Given the description of an element on the screen output the (x, y) to click on. 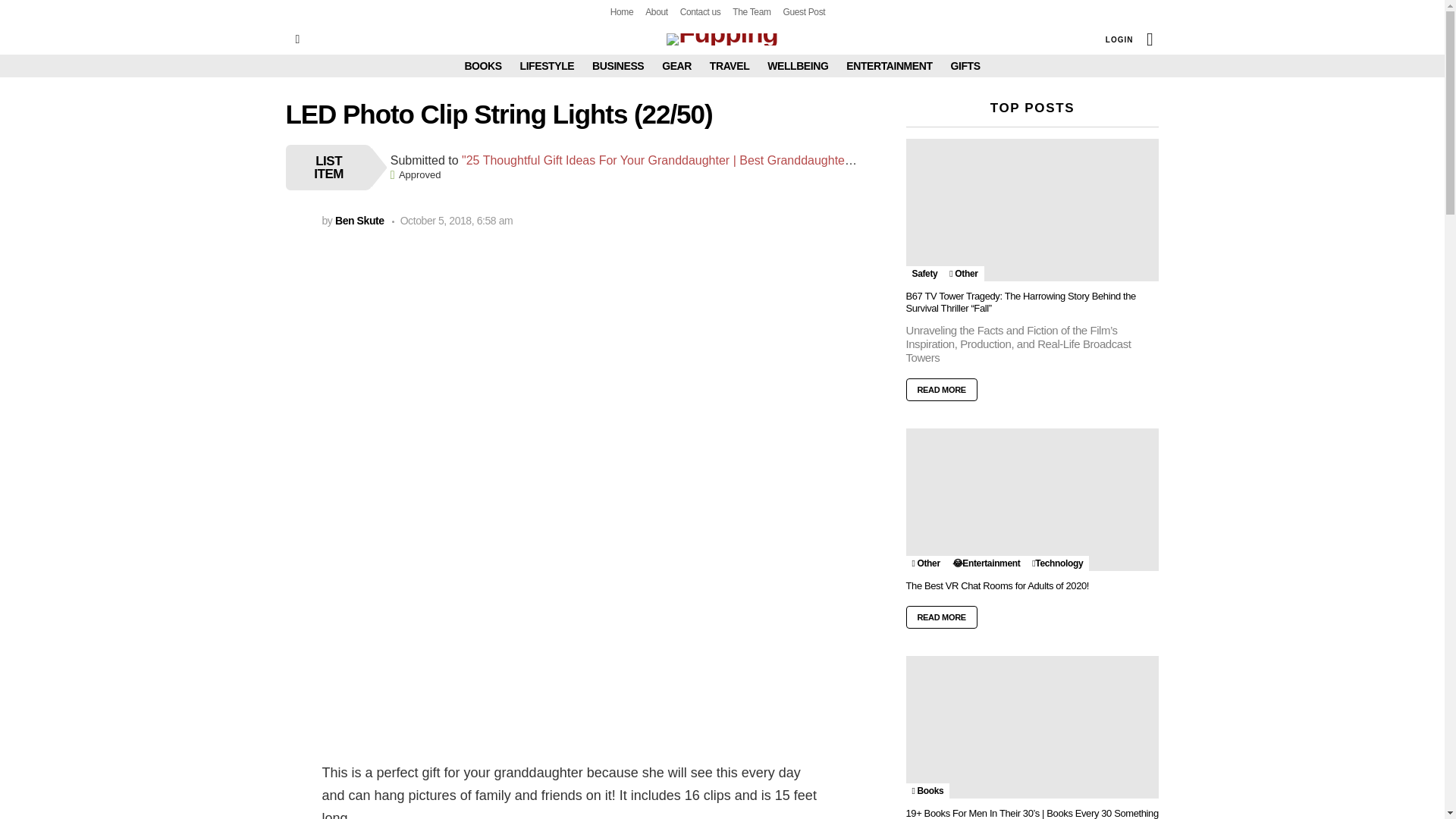
The Best VR Chat Rooms for Adults of 2020! (1031, 499)
LOGIN (1119, 38)
Posts by Ben Skute (359, 220)
BUSINESS (617, 65)
The Team (751, 12)
TRAVEL (729, 65)
GIFTS (964, 65)
Contact us (699, 12)
WELLBEING (797, 65)
Menu (296, 39)
